Given the description of an element on the screen output the (x, y) to click on. 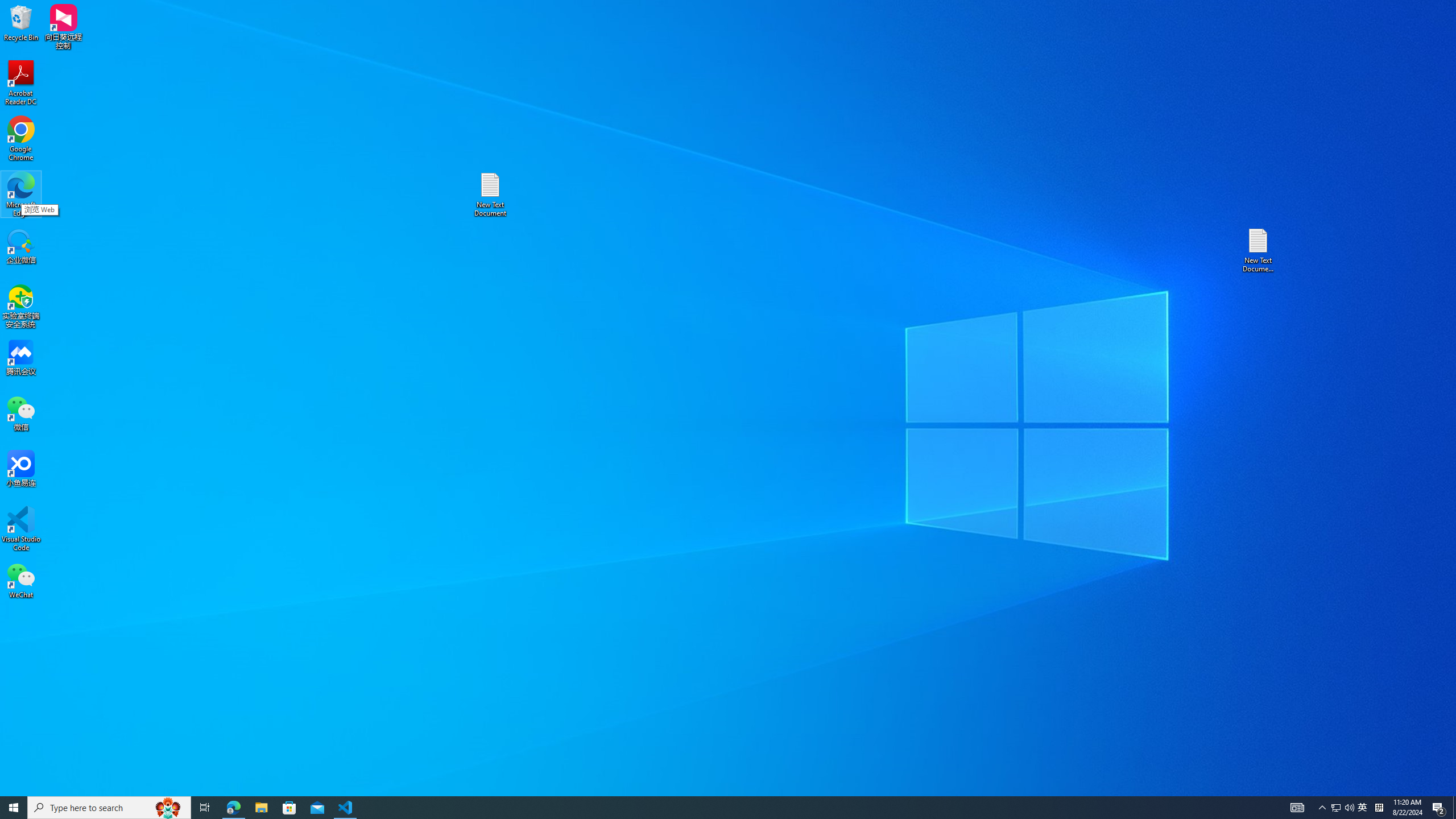
Acrobat Reader DC (21, 82)
Task View (204, 807)
Microsoft Store (289, 807)
